Given the description of an element on the screen output the (x, y) to click on. 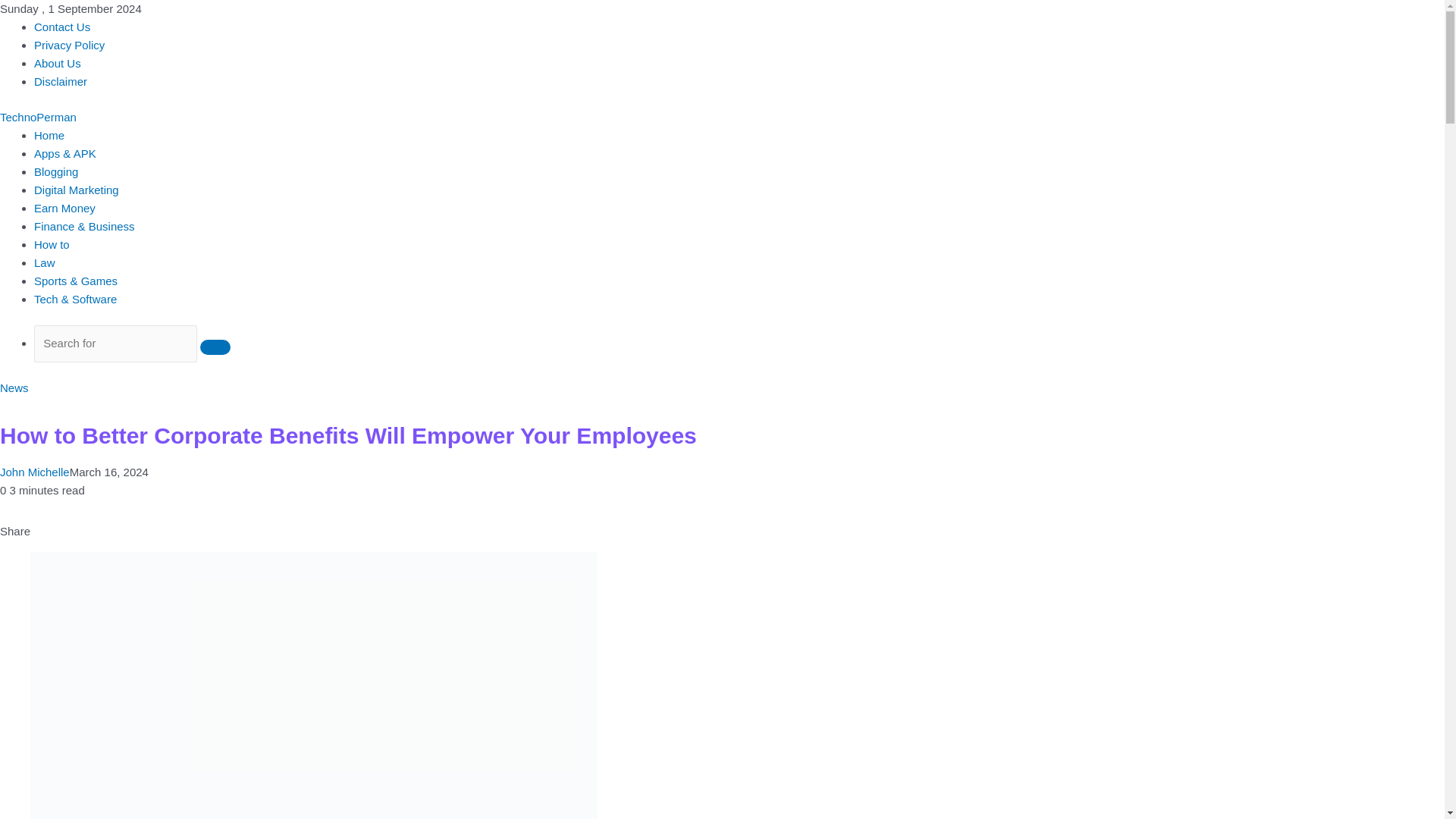
Contact Us (61, 26)
Privacy Policy (68, 44)
Search for (114, 343)
John Michelle (34, 472)
John Michelle (34, 472)
Law (44, 262)
Home (48, 134)
Blogging (55, 171)
About Us (57, 62)
How to (51, 244)
